Given the description of an element on the screen output the (x, y) to click on. 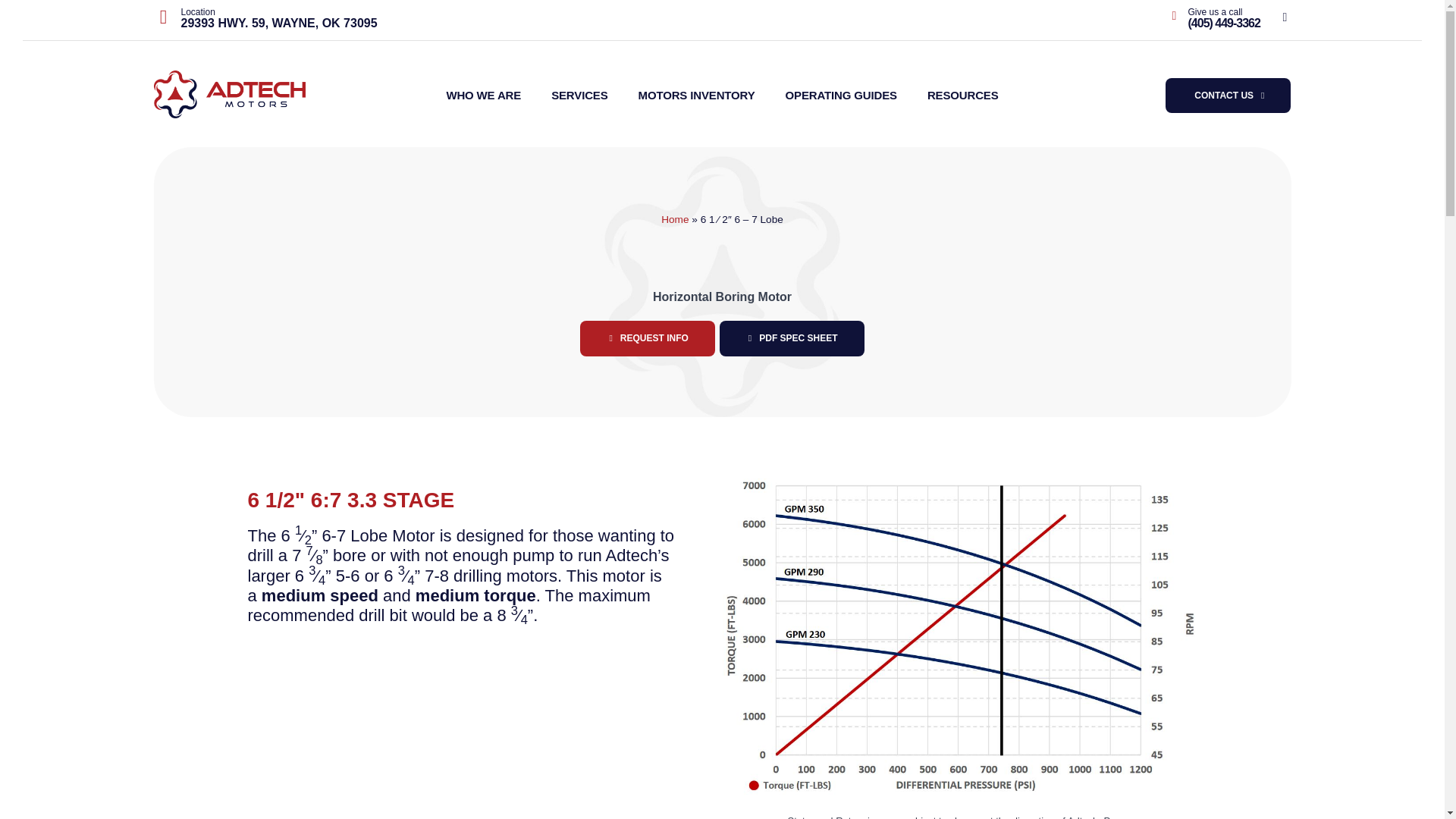
WHO WE ARE (482, 95)
SERVICES (579, 95)
OPERATING GUIDES (841, 95)
RESOURCES (962, 95)
MOTORS INVENTORY (697, 95)
